Given the description of an element on the screen output the (x, y) to click on. 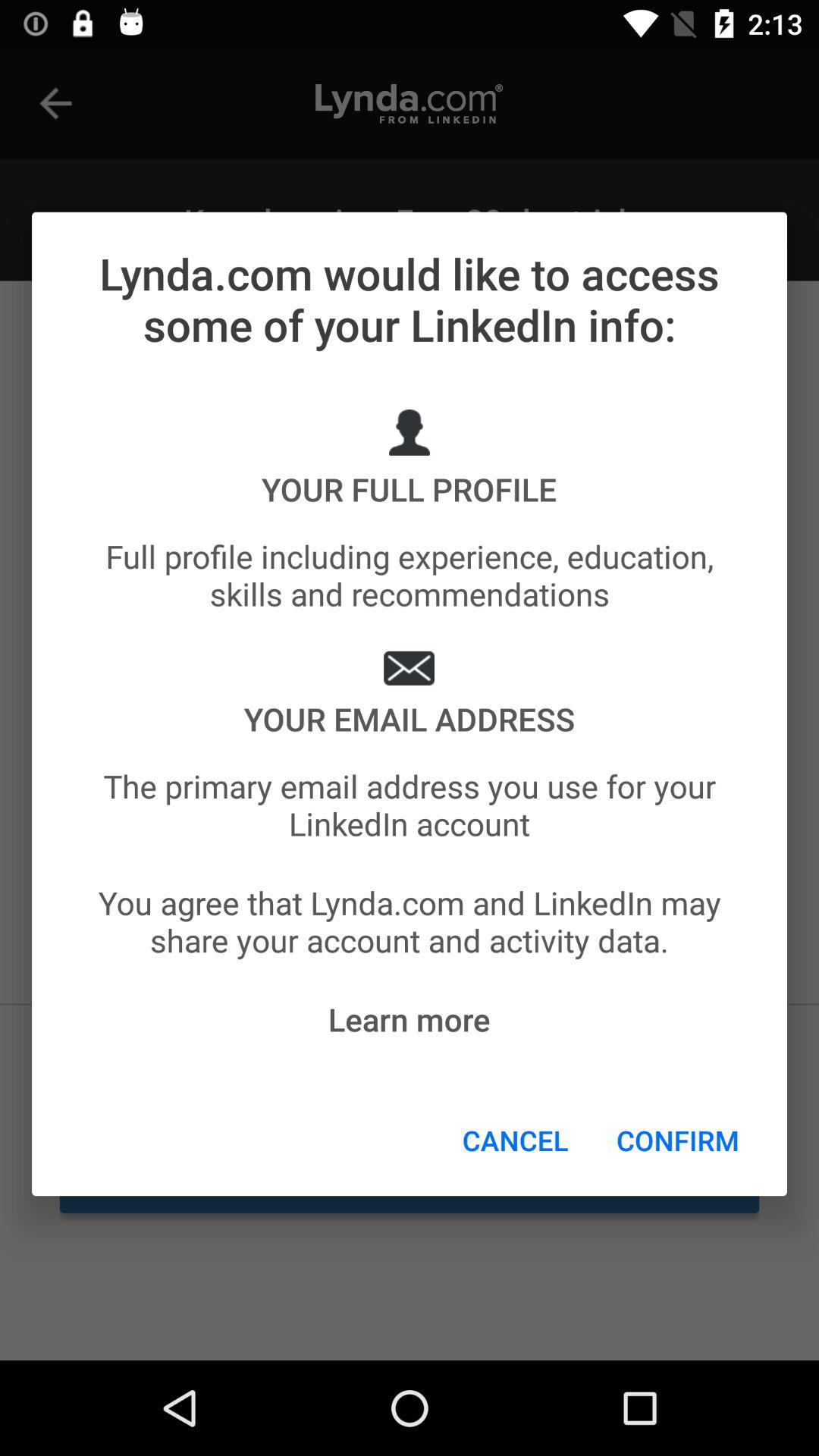
choose the cancel icon (515, 1140)
